Given the description of an element on the screen output the (x, y) to click on. 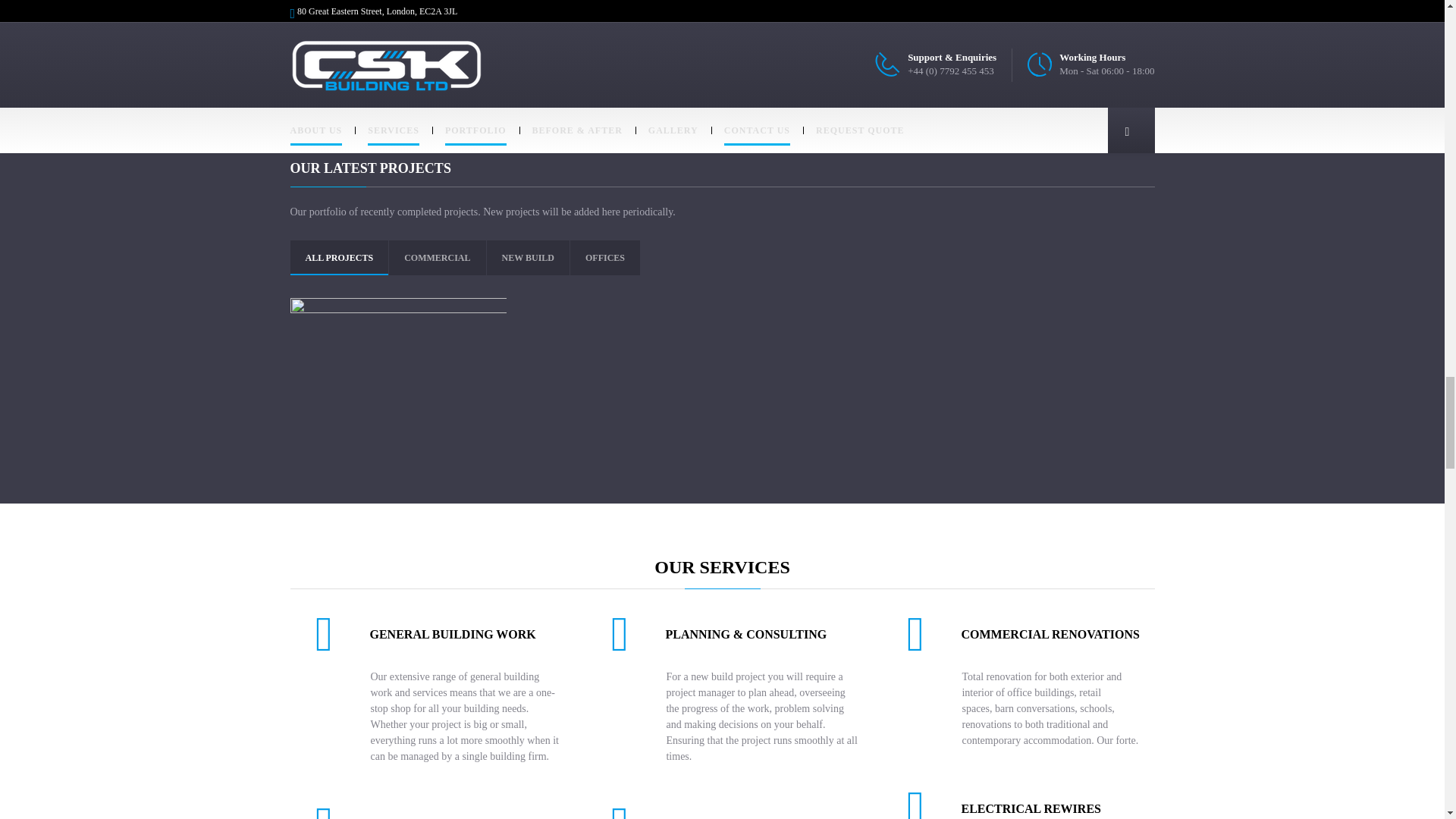
OFFICES (604, 257)
NEW BUILD (528, 257)
ALL PROJECTS (338, 257)
GENERAL BUILDING WORK (452, 634)
COMMERCIAL (437, 257)
